Given the description of an element on the screen output the (x, y) to click on. 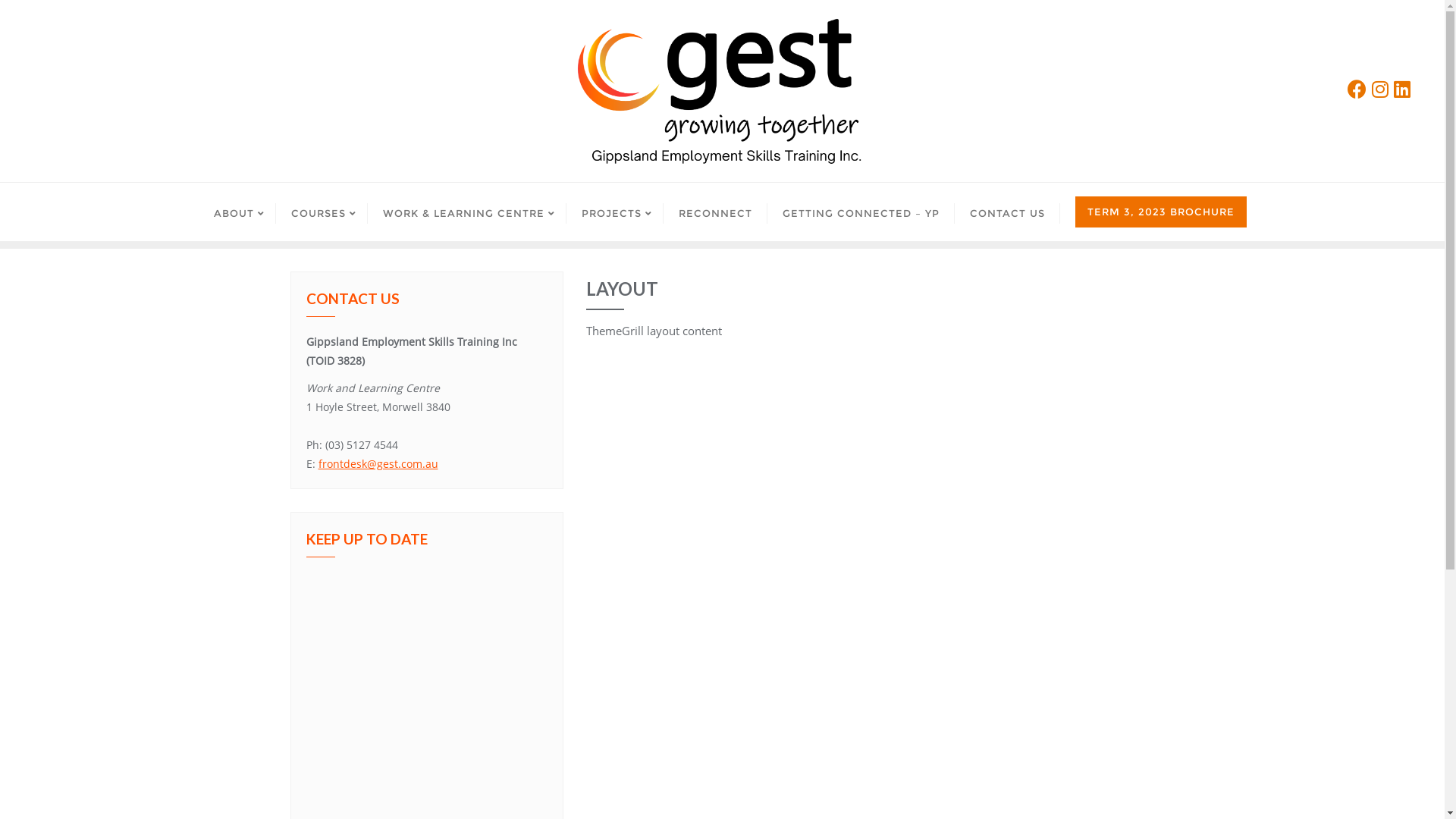
TERM 3, 2023 BROCHURE Element type: text (1160, 211)
ABOUT Element type: text (237, 211)
frontdesk@gest.com.au Element type: text (378, 463)
CONTACT US Element type: text (1006, 211)
PROJECTS Element type: text (613, 211)
WORK & LEARNING CENTRE Element type: text (466, 211)
RECONNECT Element type: text (714, 211)
COURSES Element type: text (321, 211)
